Given the description of an element on the screen output the (x, y) to click on. 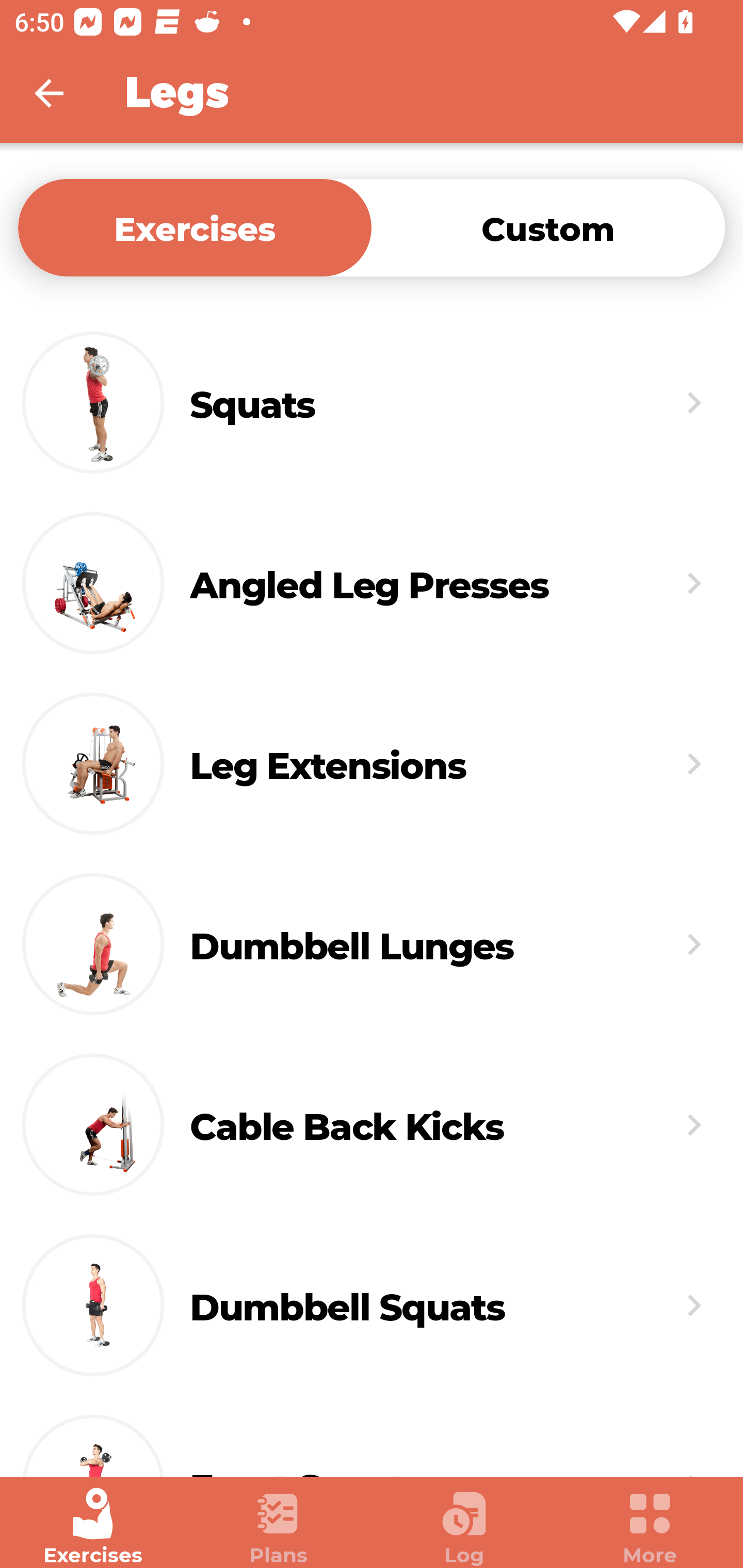
Back (62, 92)
Exercises (194, 226)
Custom (548, 226)
Exercises (92, 1527)
Plans (278, 1527)
Log (464, 1527)
More (650, 1527)
